Given the description of an element on the screen output the (x, y) to click on. 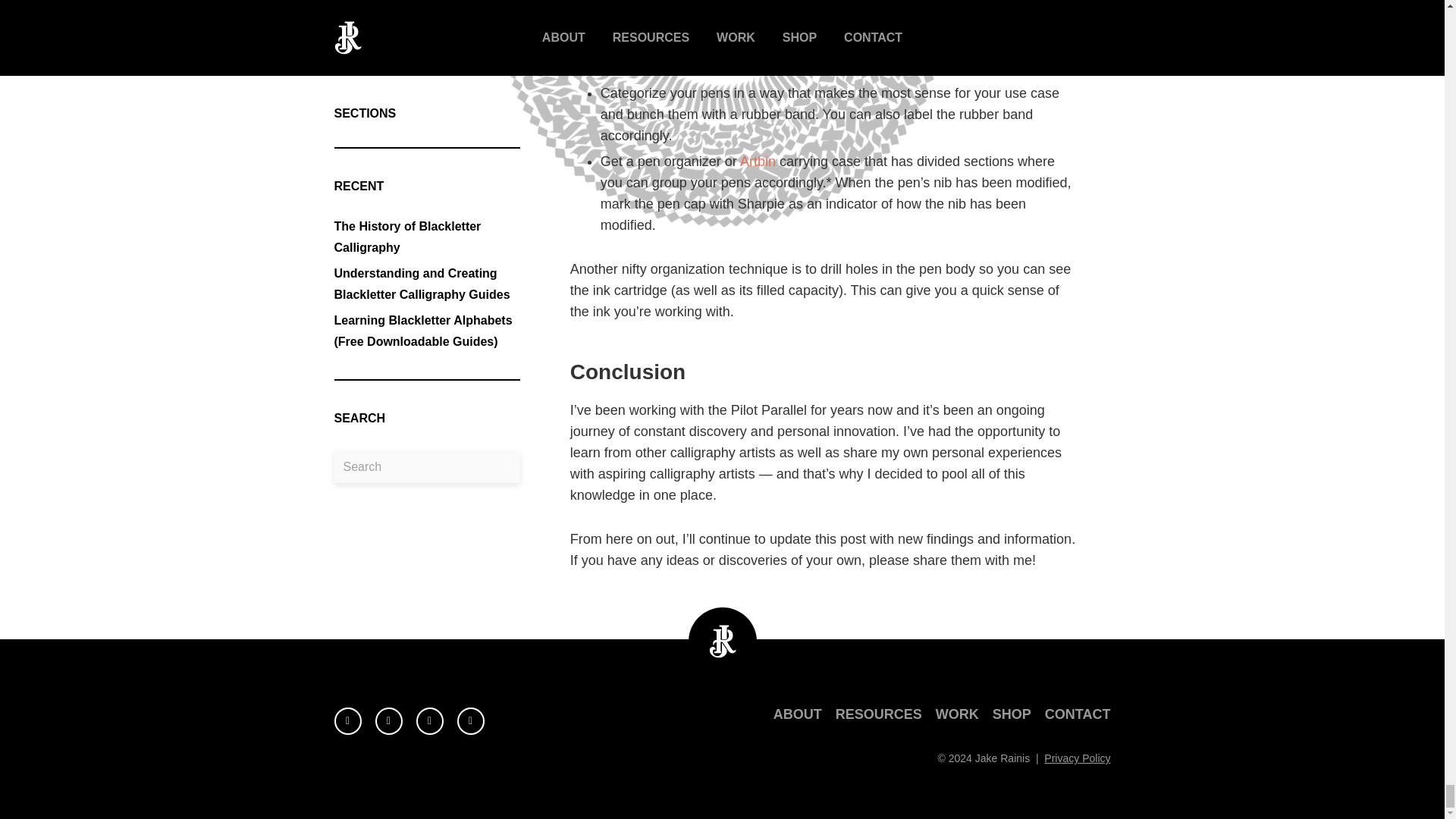
WORK (957, 713)
CONTACT (1077, 713)
Privacy Policy (1076, 758)
RESOURCES (878, 713)
ABOUT (797, 713)
Subscribe to RSS feed (470, 720)
Connect with Jake Rainis on YouTube (387, 720)
SHOP (1011, 713)
Artbin (757, 160)
Connect with Jake Rainis on Facebook (428, 720)
Connect with Jake Rainis on Instagram (347, 720)
